Given the description of an element on the screen output the (x, y) to click on. 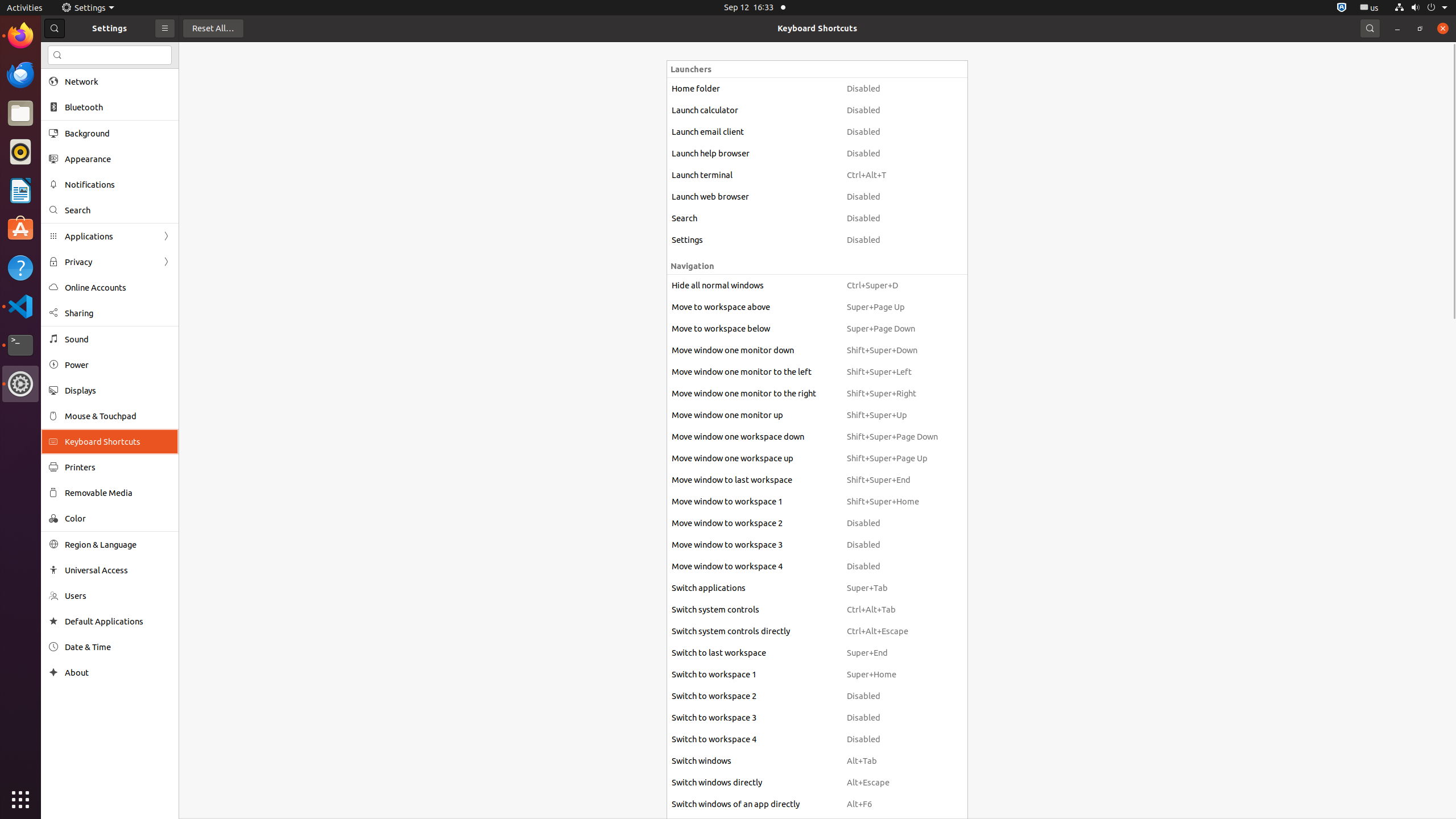
Shift+Super+Page Down Element type: label (891, 436)
Background Element type: label (117, 133)
Trash Element type: label (75, 108)
Disabled Element type: label (891, 88)
